Given the description of an element on the screen output the (x, y) to click on. 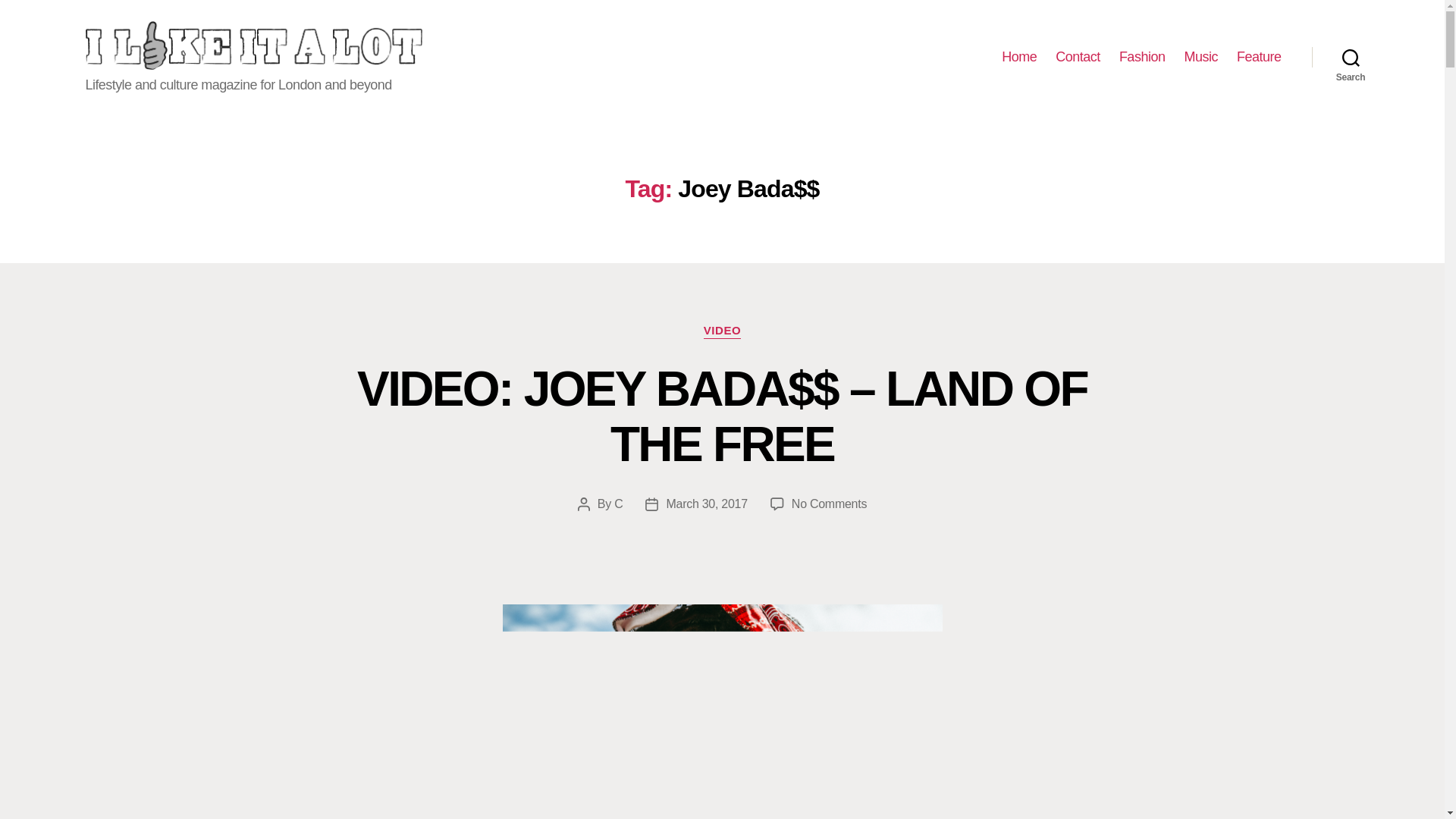
Search (1350, 57)
VIDEO (722, 331)
Home (1018, 57)
March 30, 2017 (705, 503)
Music (1200, 57)
Feature (1258, 57)
C (618, 503)
Fashion (1142, 57)
Contact (1077, 57)
